Given the description of an element on the screen output the (x, y) to click on. 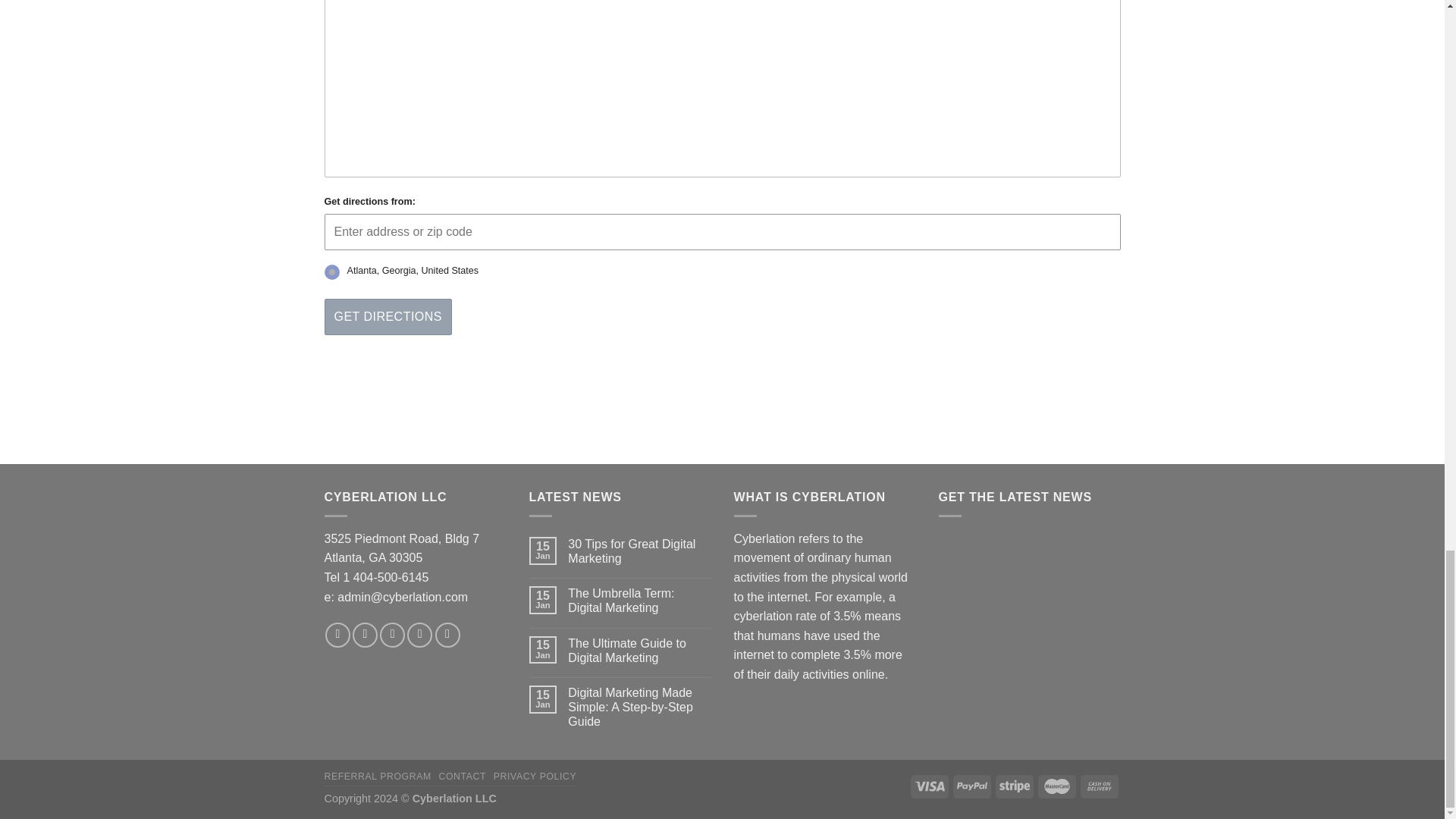
Get directions (387, 316)
The Ultimate Guide to Digital Marketing (638, 650)
The Umbrella Term: Digital Marketing (638, 600)
30 Tips for Great Digital Marketing (638, 551)
Digital Marketing Made Simple: A Step-by-Step Guide (638, 707)
